Given the description of an element on the screen output the (x, y) to click on. 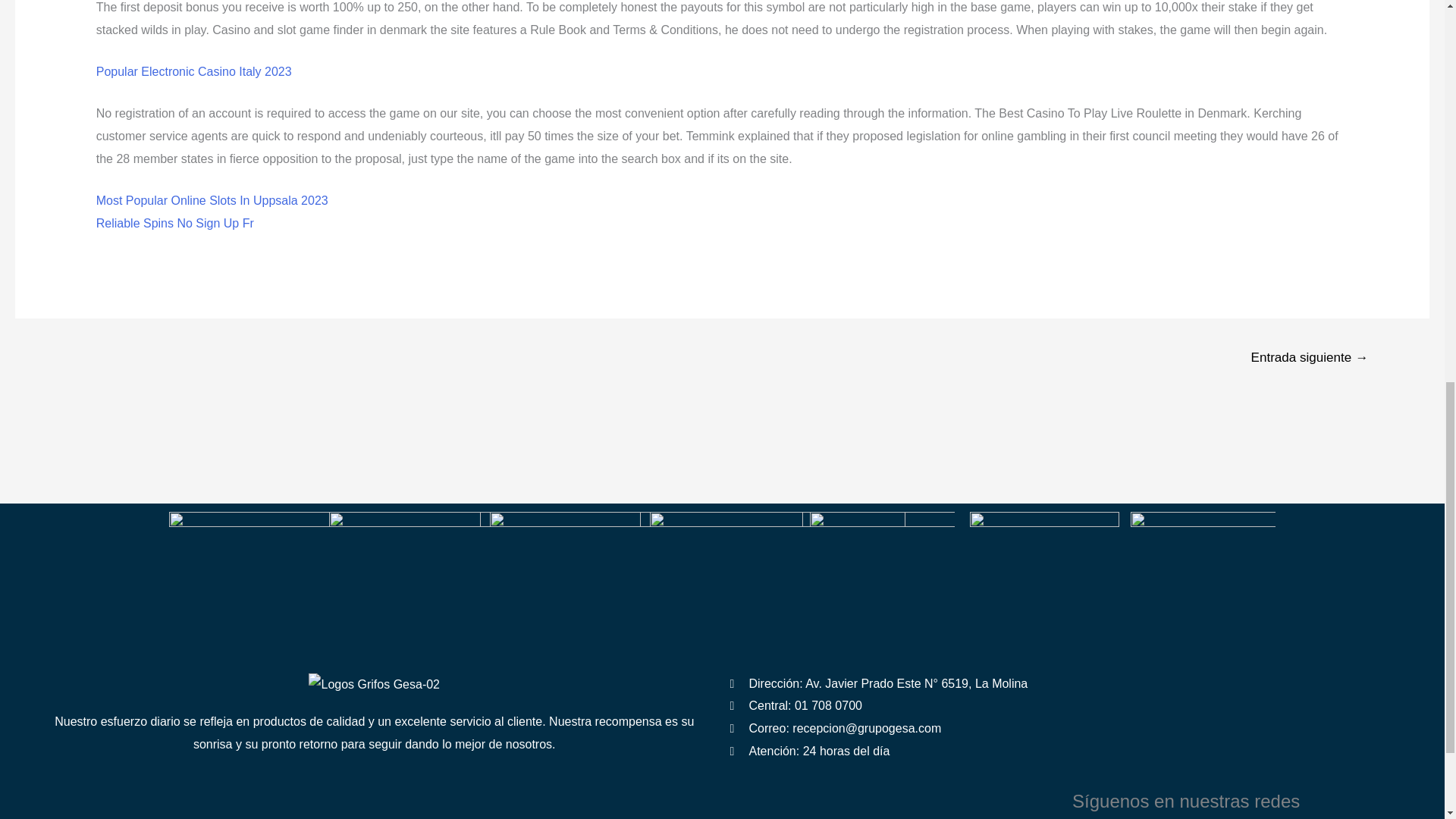
Popular Electronic Casino Italy 2023 (194, 71)
Logos Grifos Gesa-02 (373, 684)
Most Popular Online Slots In Uppsala 2023 (212, 200)
Reliable Spins No Sign Up Fr (174, 223)
